Given the description of an element on the screen output the (x, y) to click on. 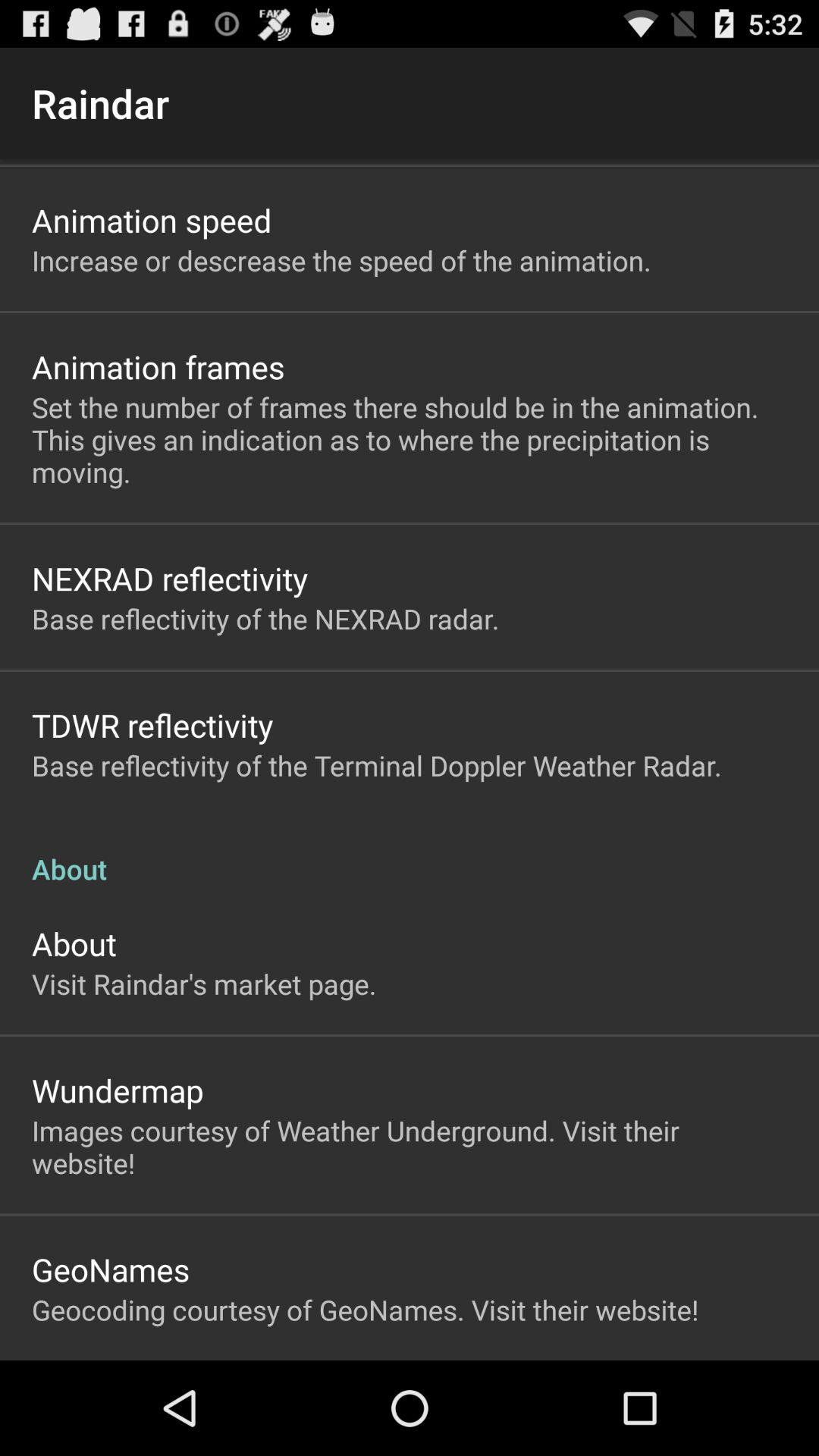
click the item above the images courtesy of item (117, 1089)
